Given the description of an element on the screen output the (x, y) to click on. 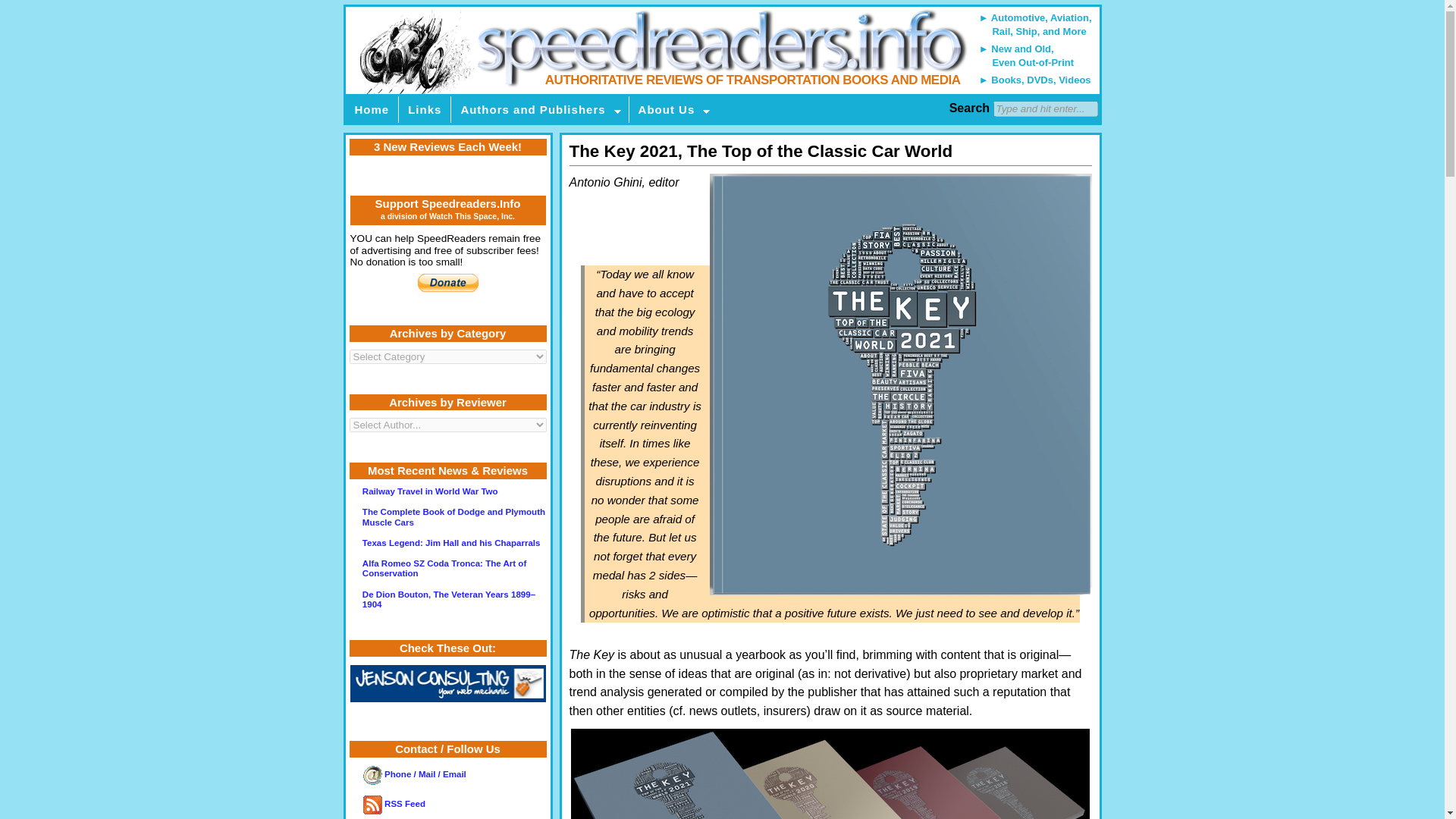
Speedreaders.info (721, 50)
Home (372, 109)
Home (372, 109)
Authors and Publishers (539, 109)
About Us (672, 109)
Type and hit enter... (1044, 108)
About Us (672, 109)
Links (424, 109)
Authors and Publishers (539, 109)
Links (424, 109)
